Given the description of an element on the screen output the (x, y) to click on. 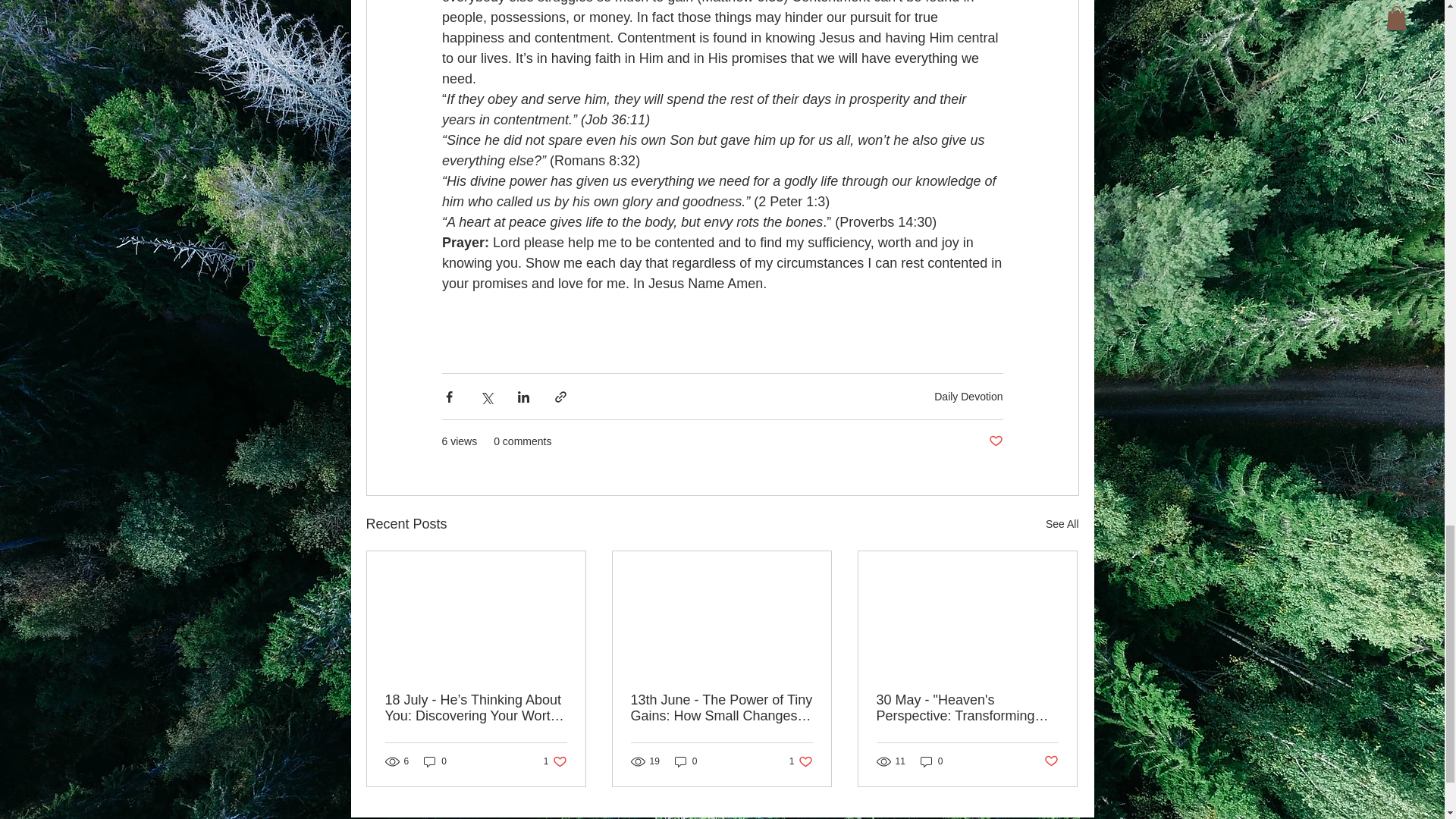
See All (1061, 524)
Daily Devotion (555, 761)
Post not marked as liked (968, 396)
0 (995, 441)
